Given the description of an element on the screen output the (x, y) to click on. 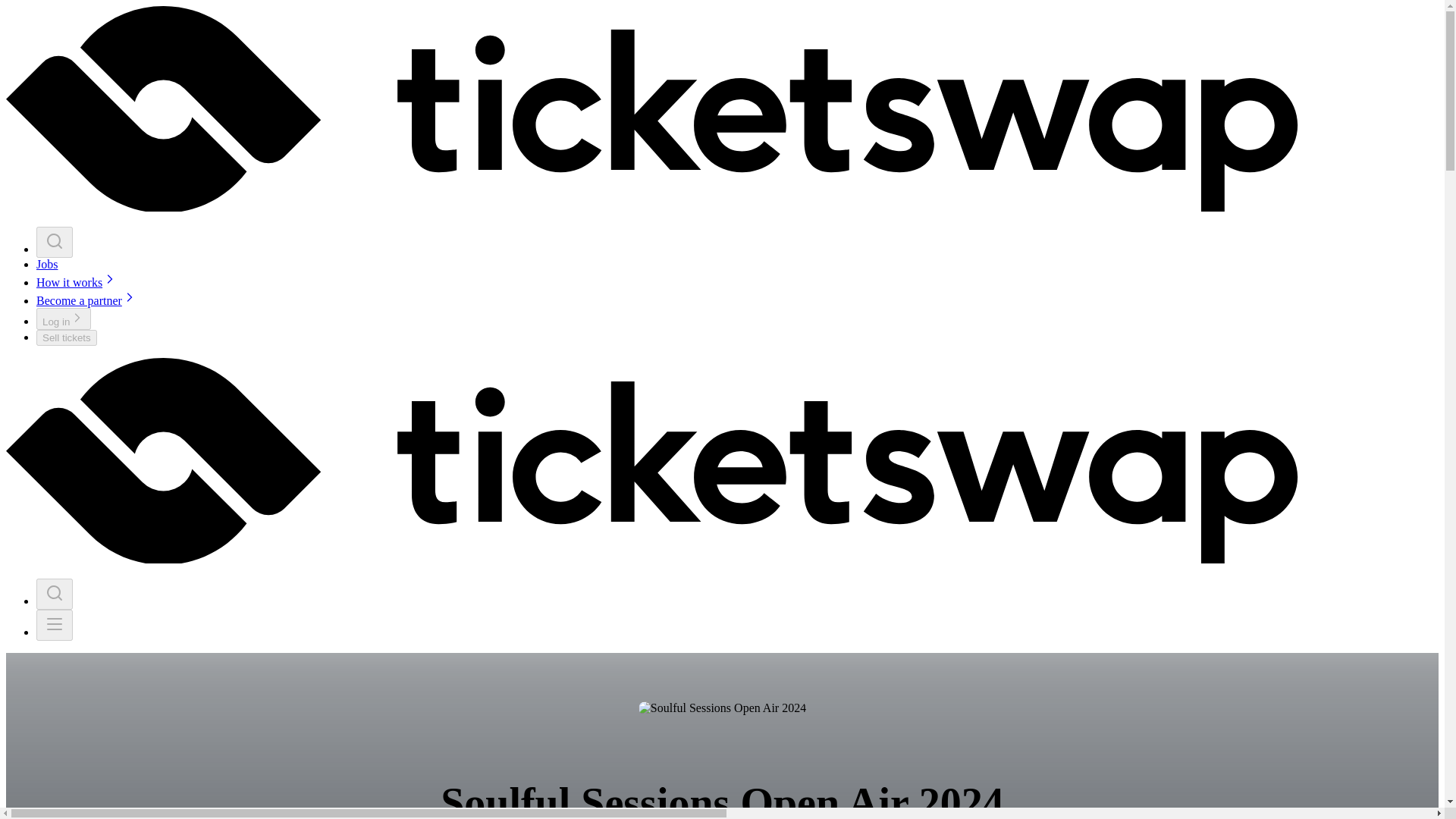
How it works (76, 282)
Become a partner (86, 300)
Sell tickets (66, 336)
Log in (63, 318)
Sell tickets (66, 337)
Jobs (47, 264)
